Given the description of an element on the screen output the (x, y) to click on. 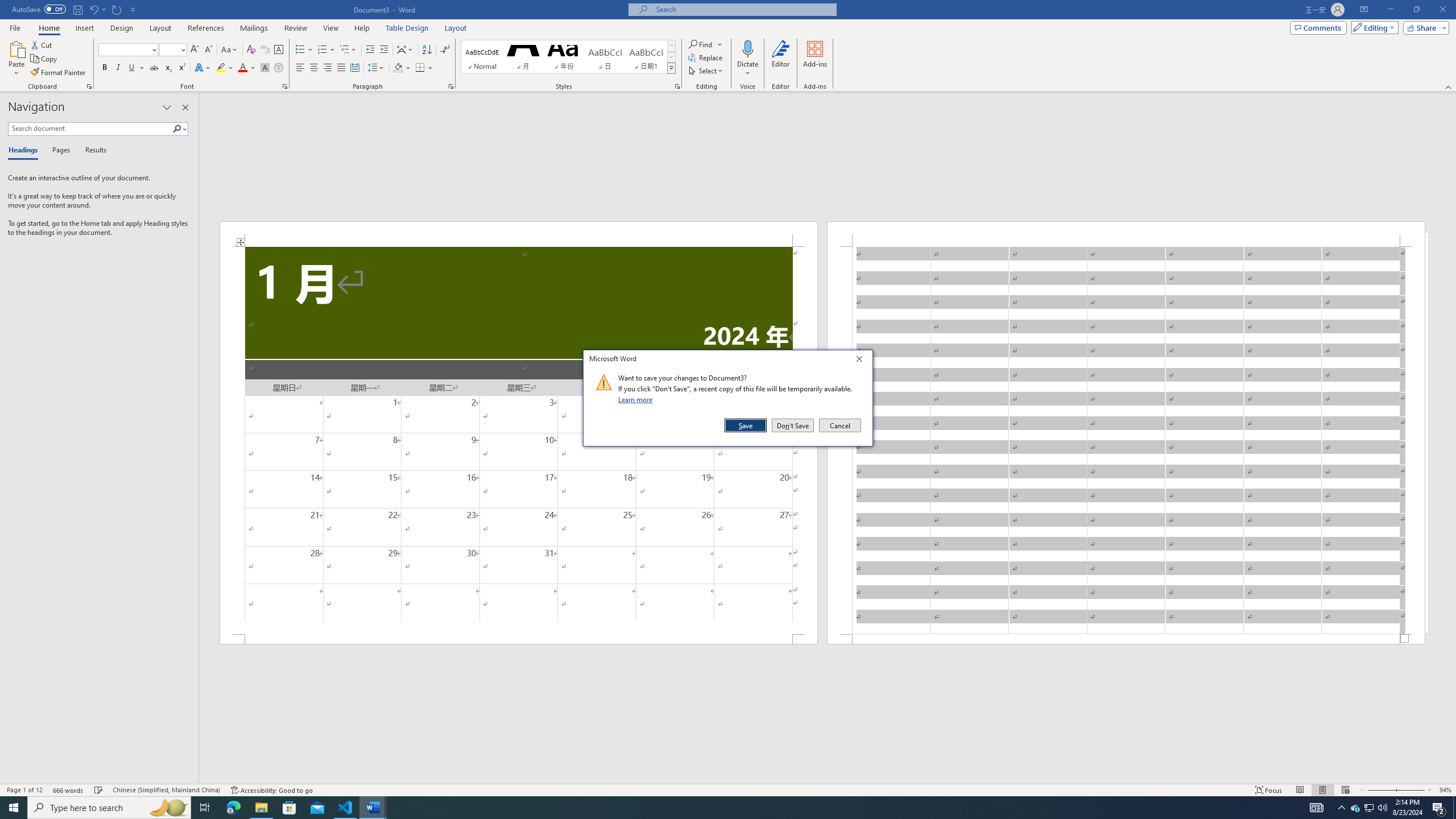
Distributed (354, 67)
AutomationID: QuickStylesGallery (568, 56)
Undo Text Fill Effect (96, 9)
Start (1368, 807)
